Given the description of an element on the screen output the (x, y) to click on. 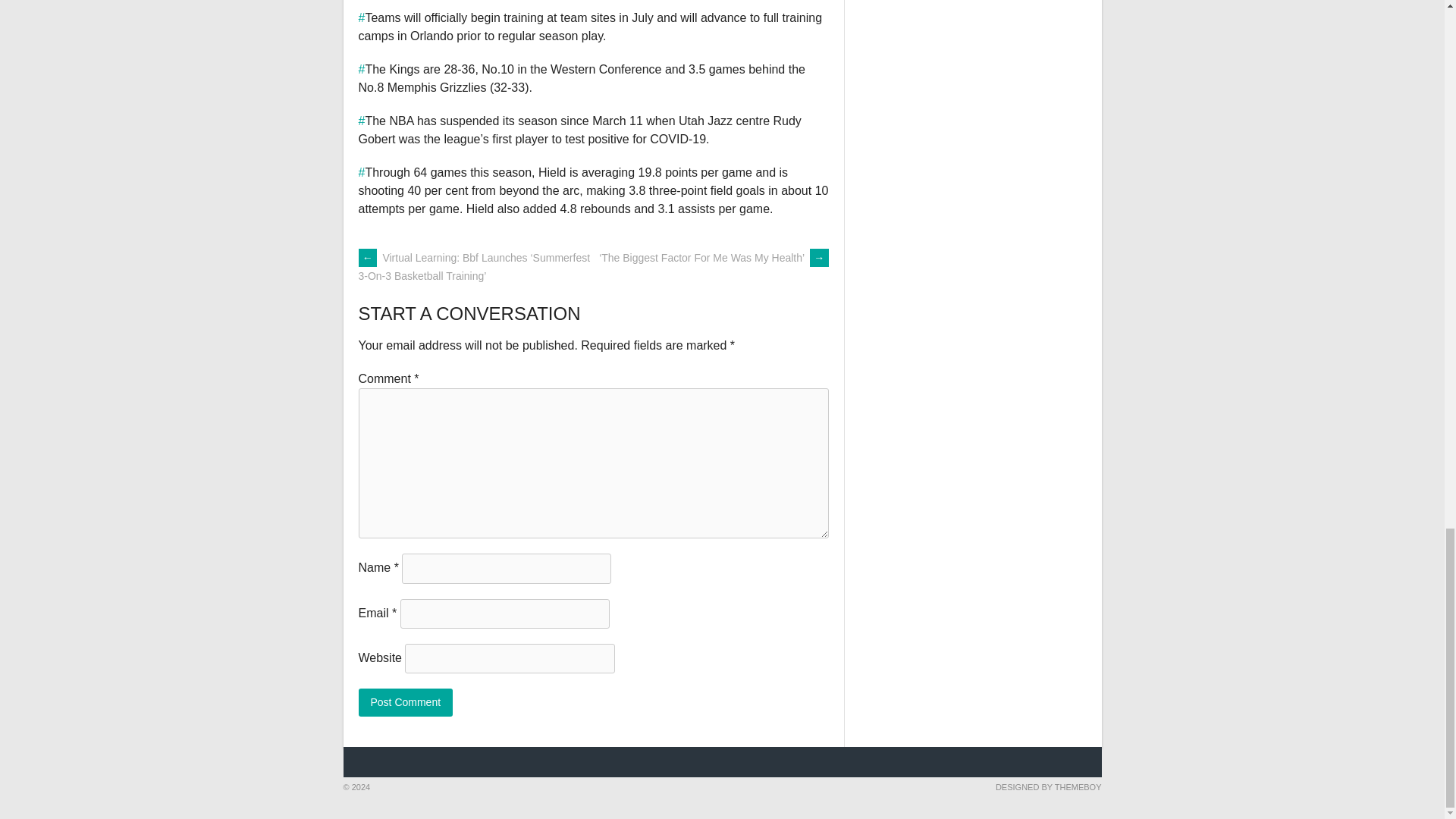
Post Comment (405, 702)
